Given the description of an element on the screen output the (x, y) to click on. 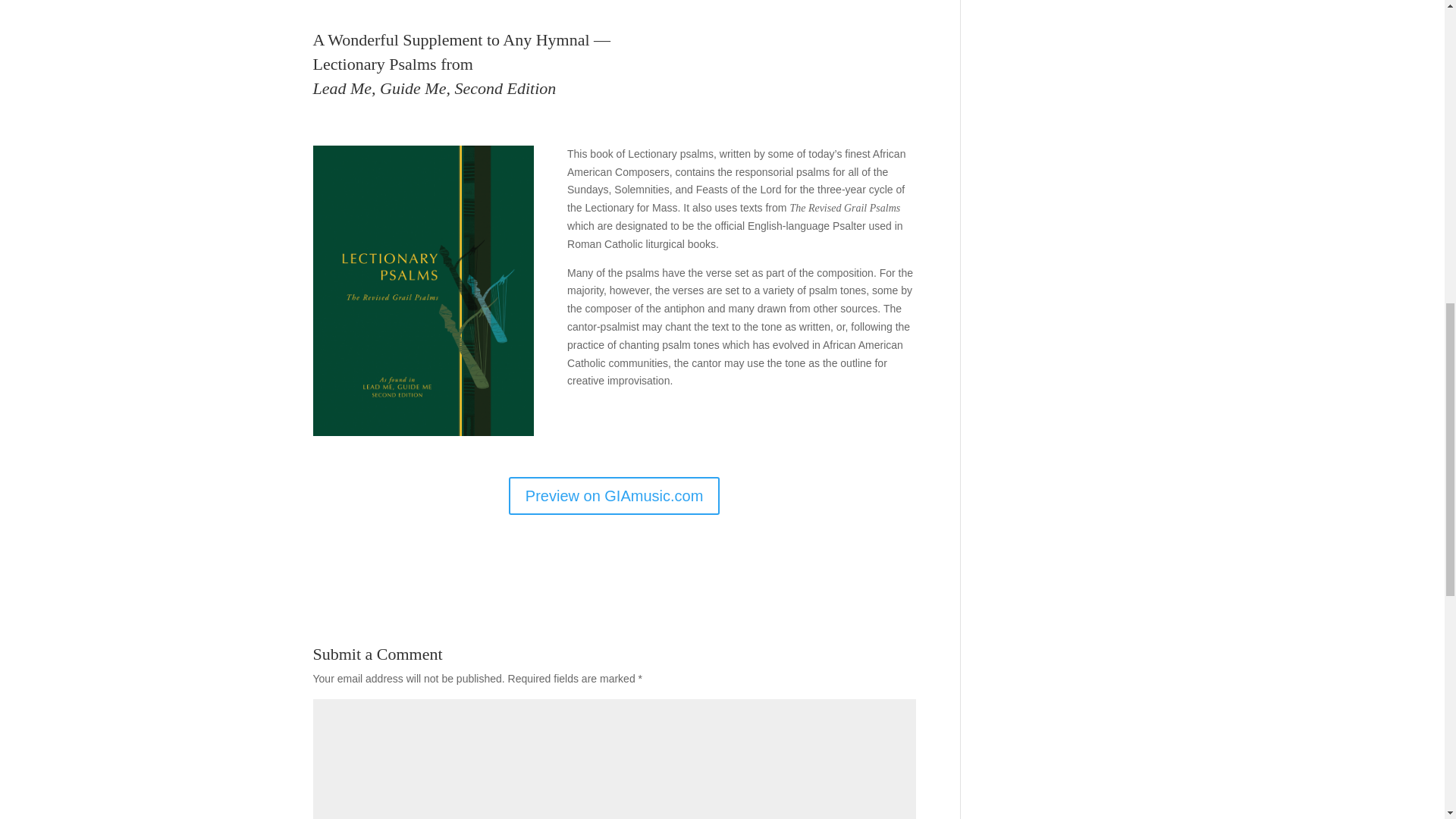
LMGM Psalms (423, 290)
